Given the description of an element on the screen output the (x, y) to click on. 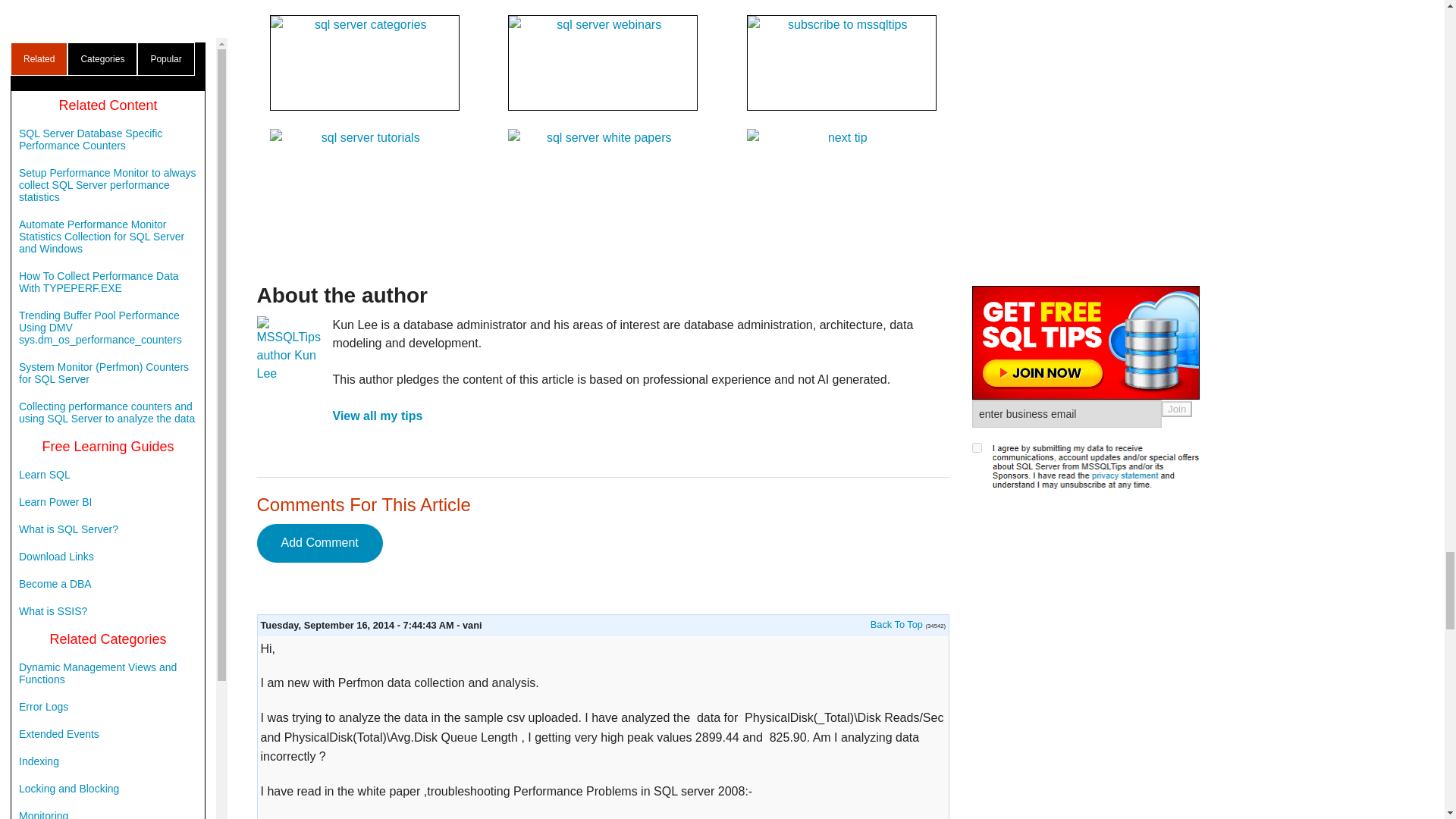
read the tip (896, 624)
